Given the description of an element on the screen output the (x, y) to click on. 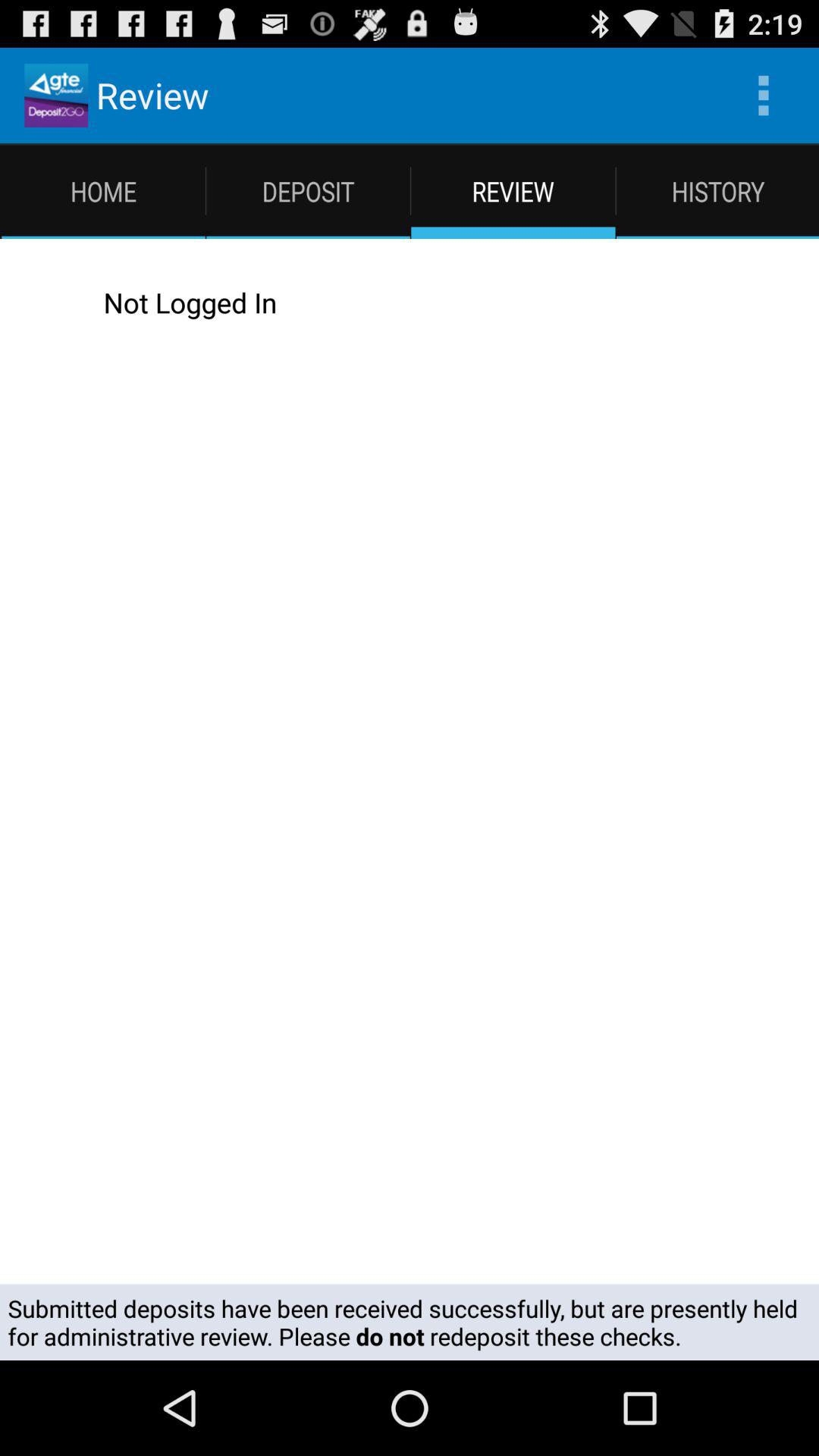
jump until the not logged in (425, 302)
